Given the description of an element on the screen output the (x, y) to click on. 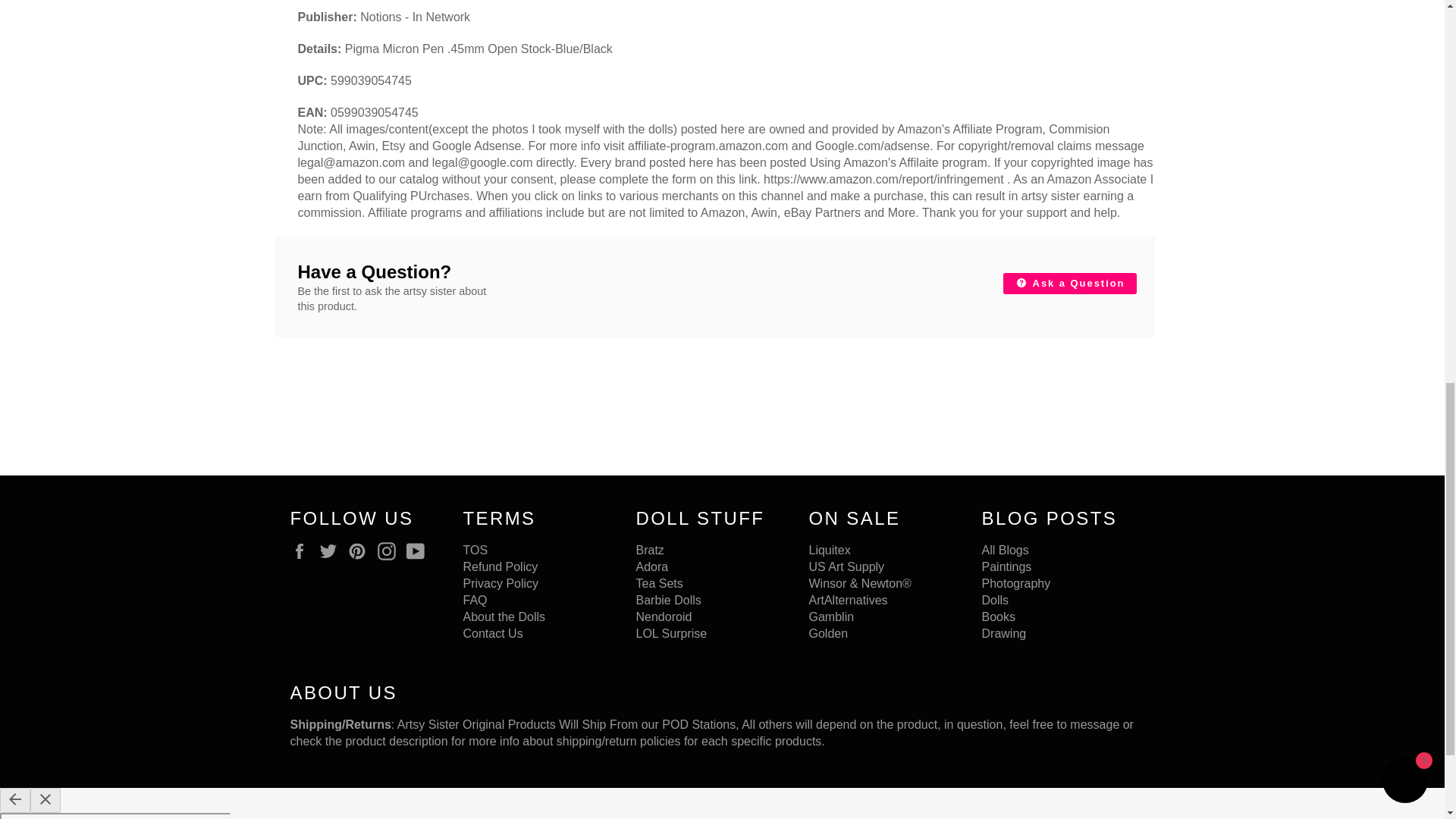
Artsy Sister - Art Supplies on Facebook (302, 551)
Artsy Sister - Art Supplies on Twitter (331, 551)
